Given the description of an element on the screen output the (x, y) to click on. 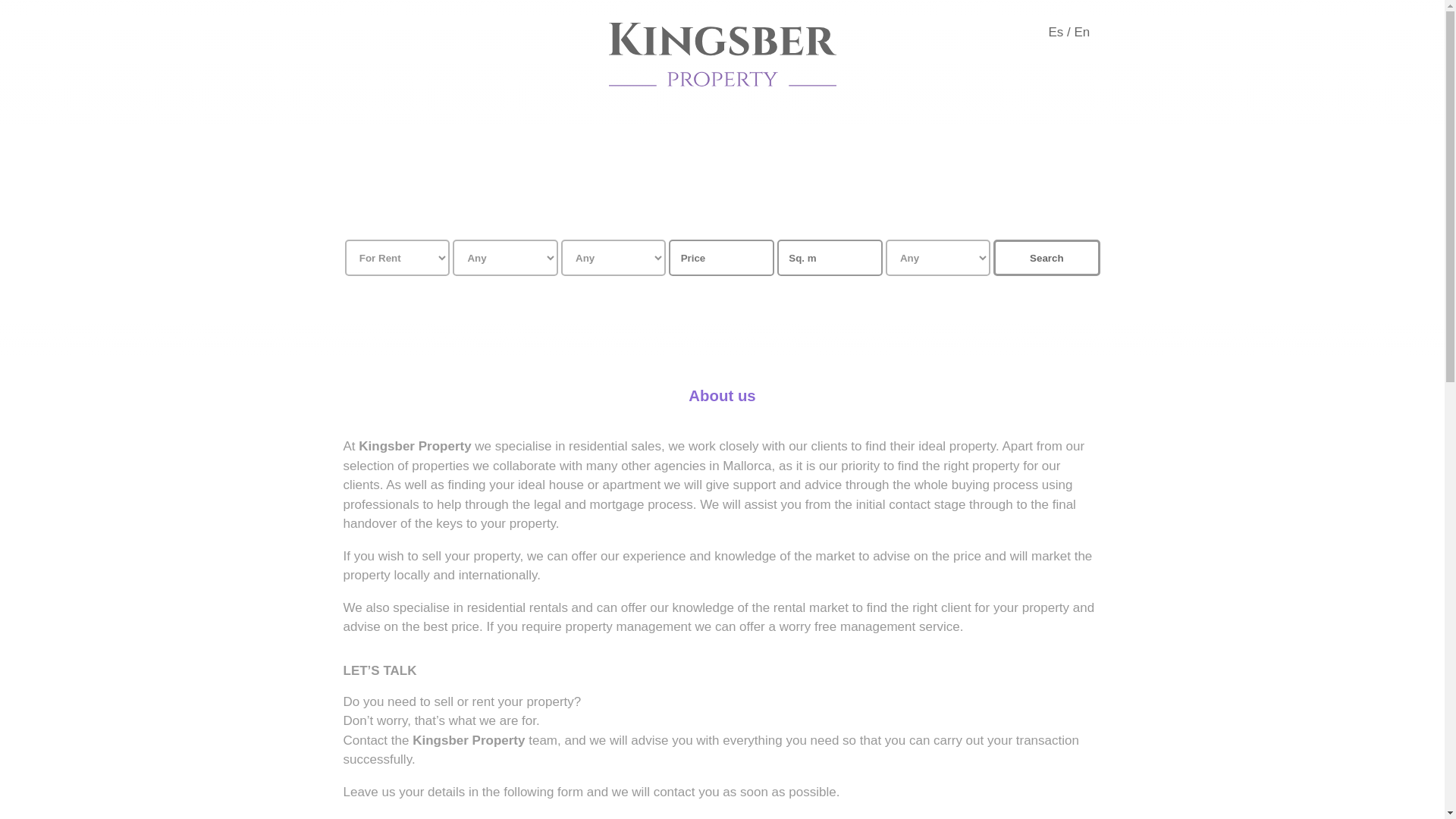
Search (1045, 257)
Search (1045, 257)
Es (1055, 32)
En (1082, 32)
